Given the description of an element on the screen output the (x, y) to click on. 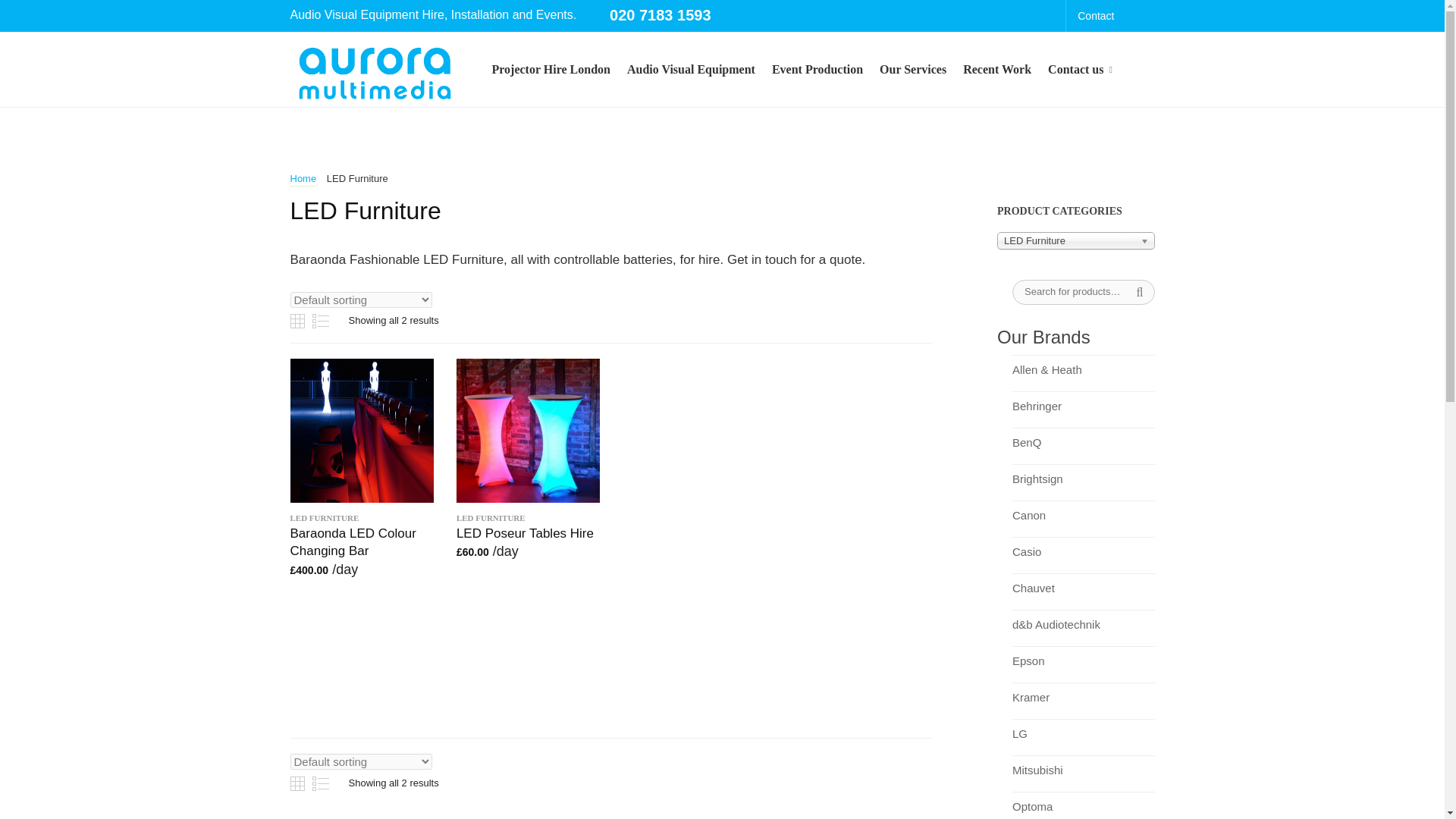
Search (1137, 292)
Contact (1095, 15)
Contact (1095, 15)
Search (1137, 292)
Projector Hire London (551, 69)
Search (1137, 292)
Audio Visual Equipment (691, 69)
Event Production (817, 69)
led poseur table (528, 430)
LED Colour Changing Bar (360, 430)
Recent Work (996, 69)
LED Furniture (1075, 240)
Home (302, 179)
